Given the description of an element on the screen output the (x, y) to click on. 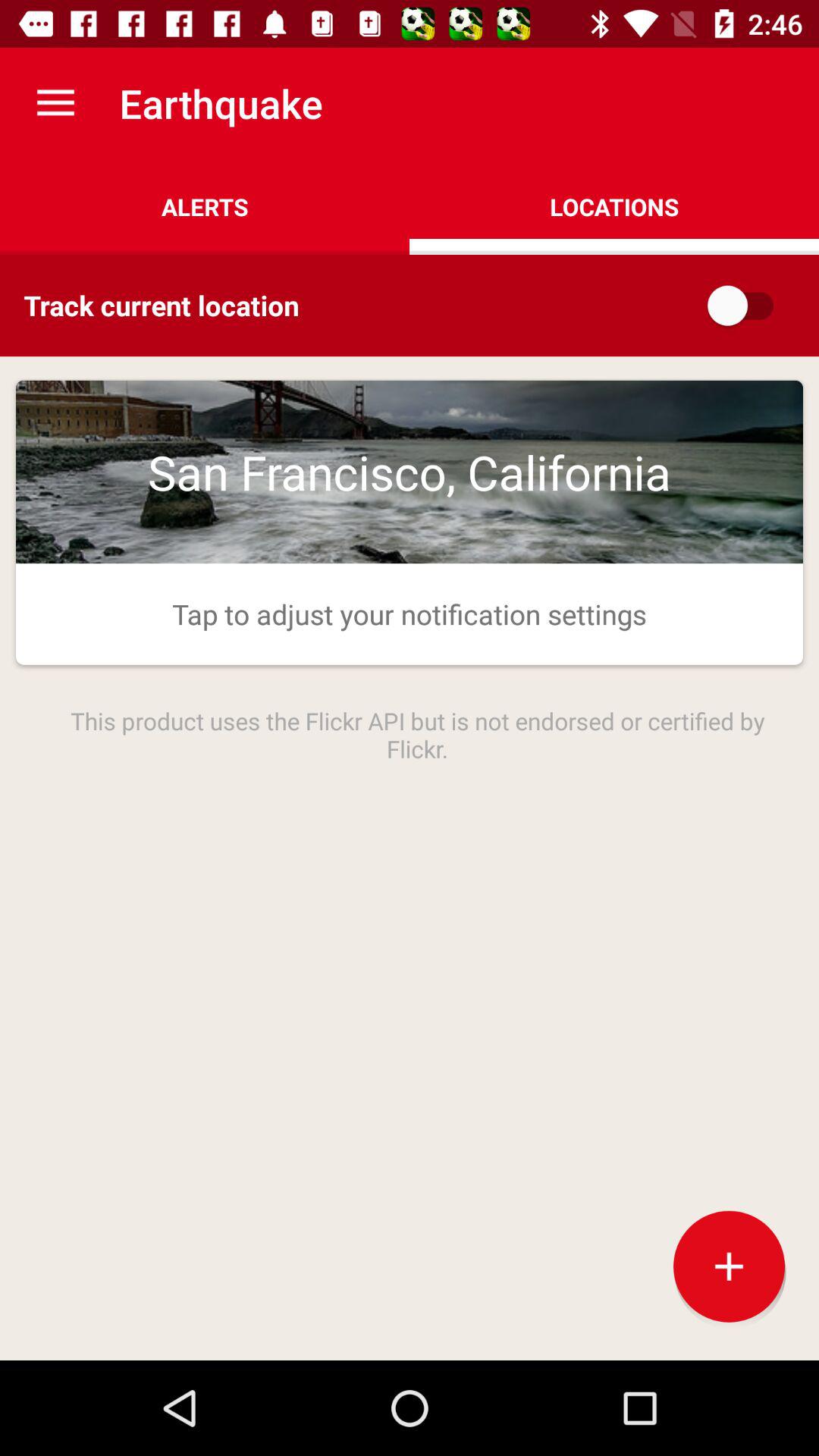
select app to the left of the locations app (204, 206)
